Given the description of an element on the screen output the (x, y) to click on. 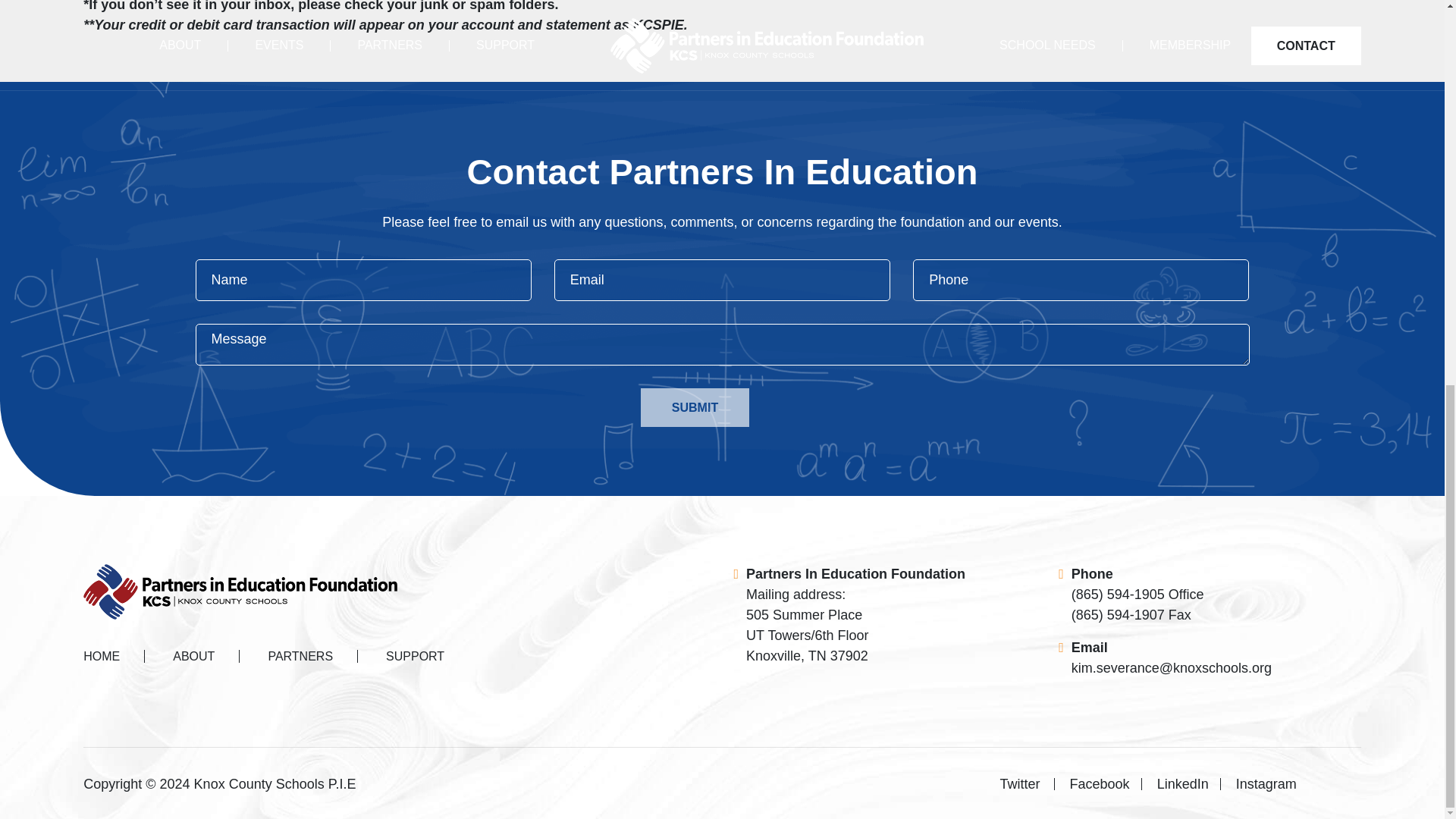
submit (694, 407)
HOME (113, 656)
Facebook (1099, 783)
SUPPORT (402, 656)
ABOUT (193, 656)
Instagram (1260, 783)
submit (694, 407)
LinkedIn (1182, 783)
Twitter (1027, 783)
Knox County Schools P.I.E (274, 783)
PARTNERS (299, 656)
